Given the description of an element on the screen output the (x, y) to click on. 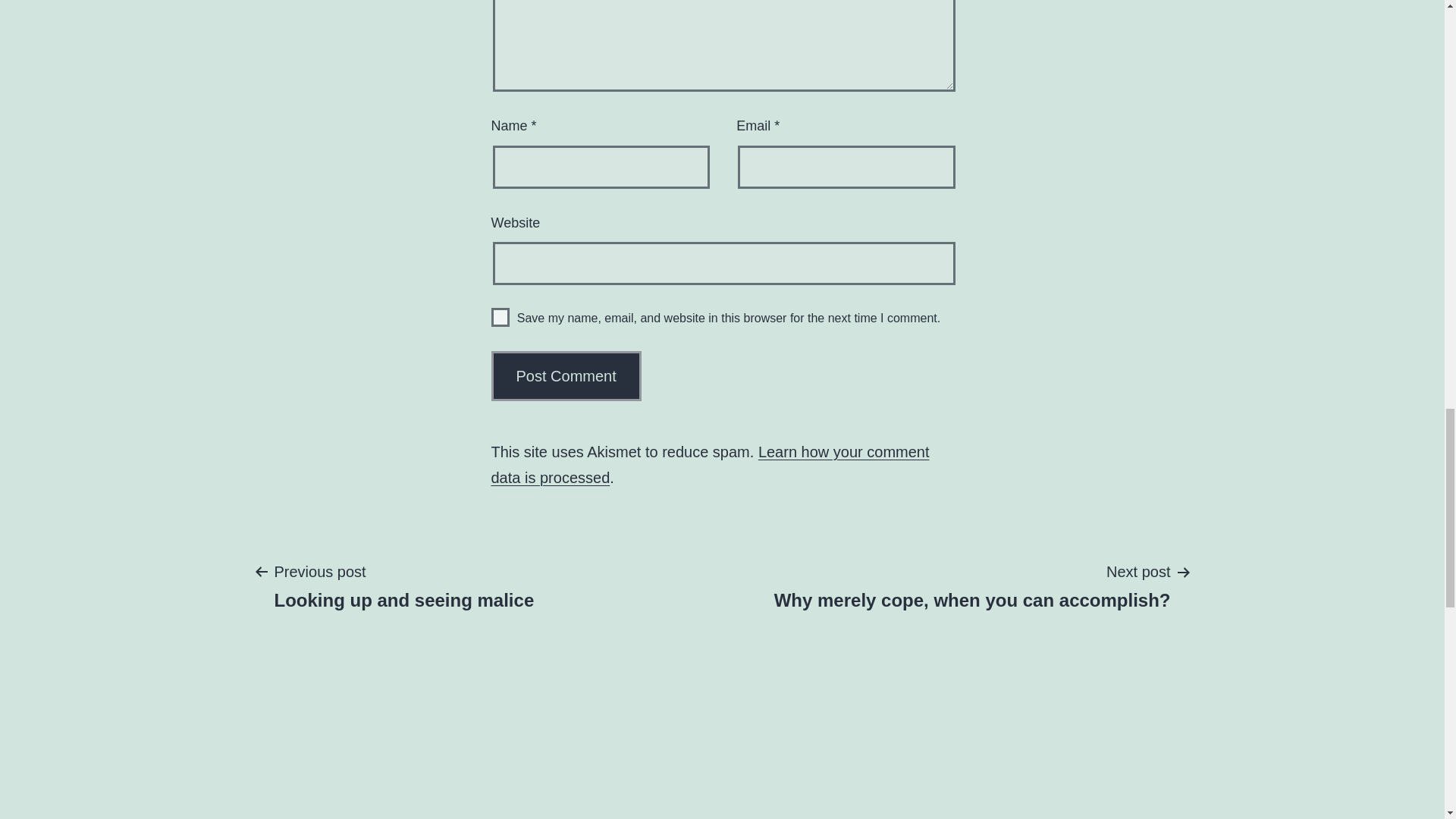
Post Comment (403, 584)
Post Comment (972, 584)
Learn how your comment data is processed (567, 376)
yes (567, 376)
